Given the description of an element on the screen output the (x, y) to click on. 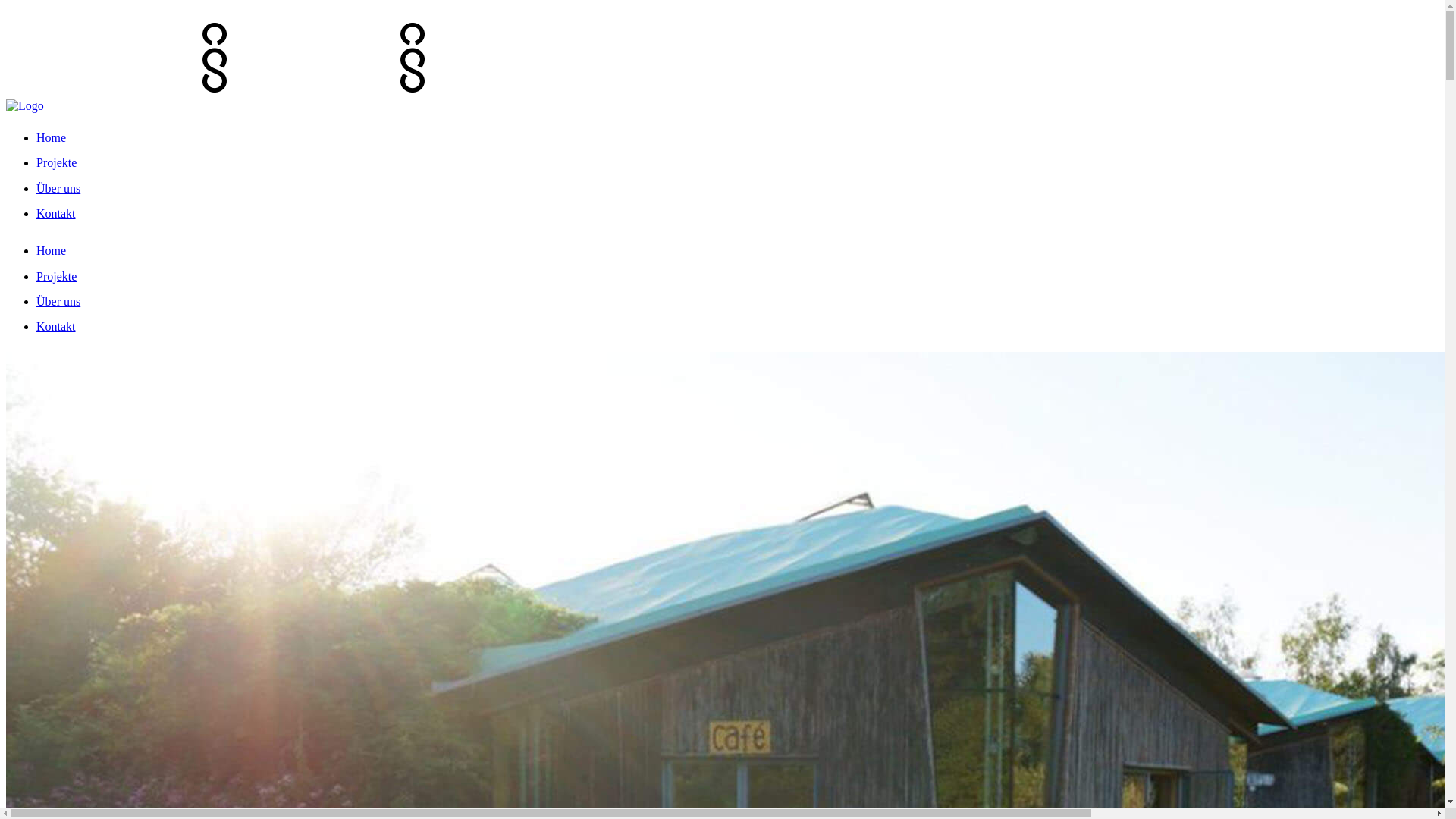
Home Element type: text (50, 250)
Kontakt Element type: text (55, 213)
Projekte Element type: text (56, 275)
Kontakt Element type: text (55, 326)
Projekte Element type: text (56, 162)
Home Element type: text (50, 137)
